Given the description of an element on the screen output the (x, y) to click on. 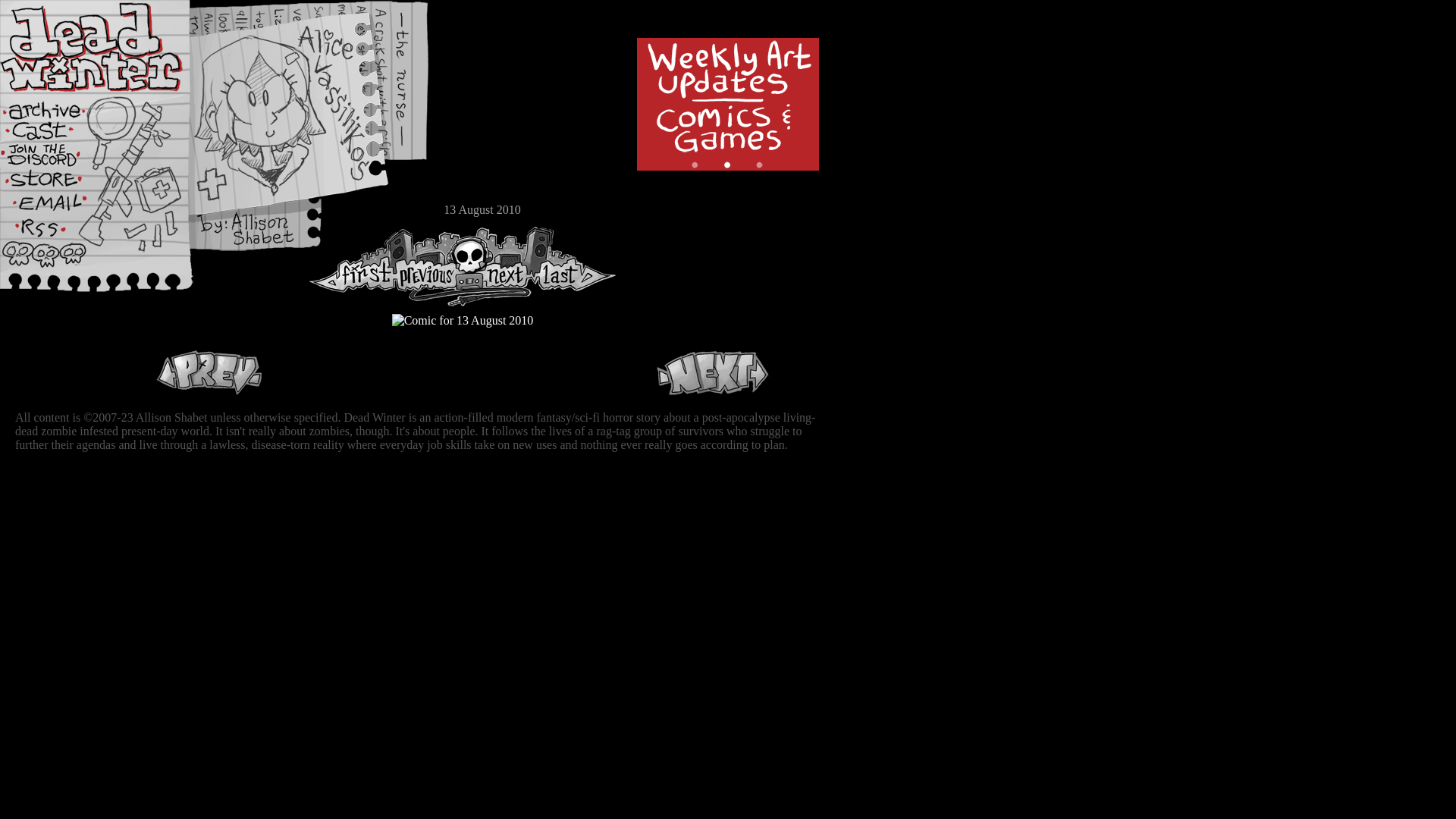
Next Element type: text (501, 266)
Cast Element type: text (56, 134)
Archive Element type: text (56, 108)
Previous Element type: text (208, 372)
Dead Winter Element type: text (113, 47)
Last Element type: text (574, 266)
Next Element type: text (712, 372)
Email Element type: text (56, 208)
RSS Element type: text (56, 235)
Previous Element type: text (432, 266)
Extras Element type: text (56, 159)
Store Element type: text (56, 183)
In the face of death it is good to celebrate being alive. Element type: hover (462, 320)
